Given the description of an element on the screen output the (x, y) to click on. 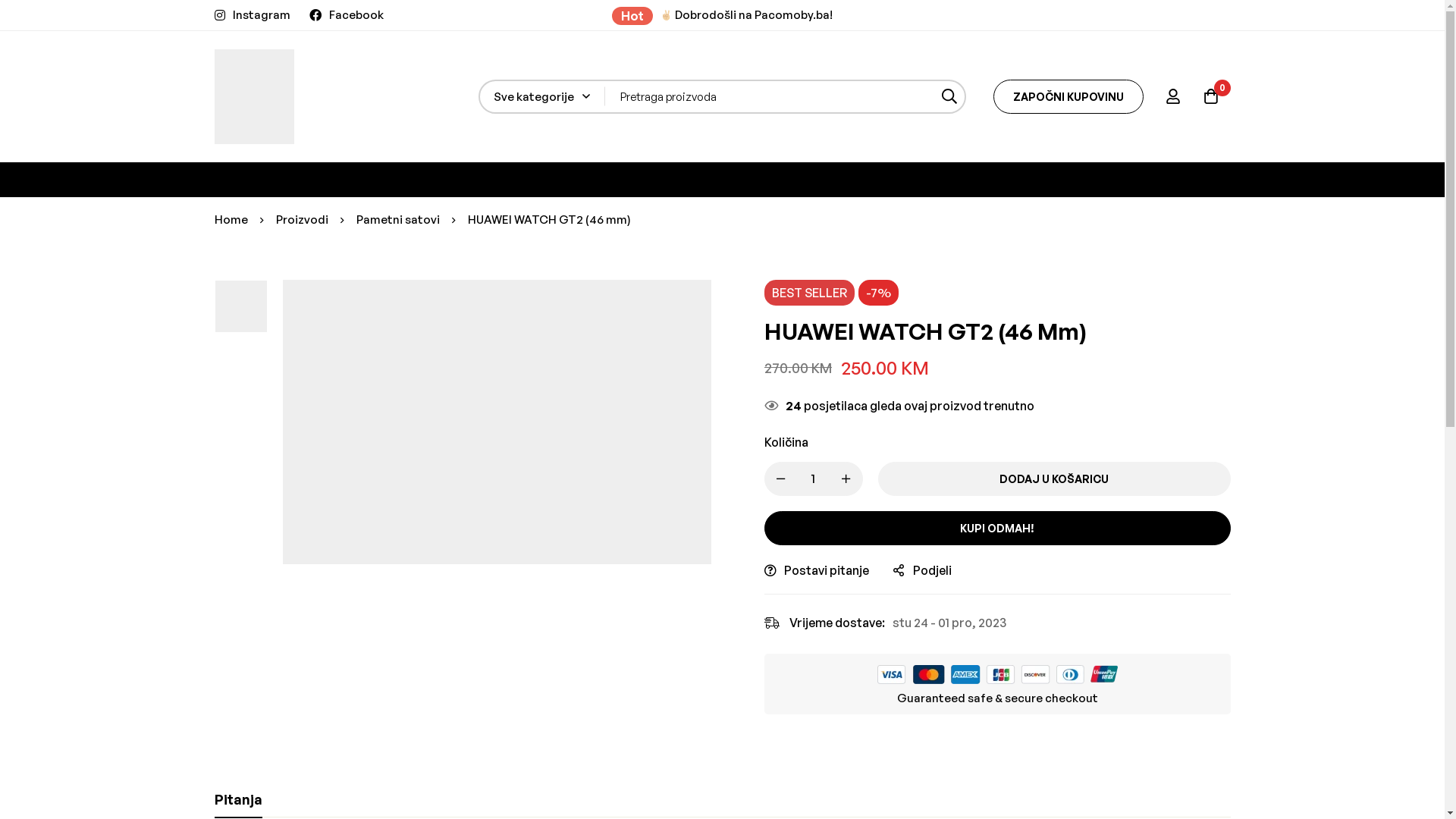
Pametni satovi Element type: text (397, 218)
0 Element type: text (1211, 95)
Proizvodi Element type: text (302, 218)
Podjeli Element type: text (922, 570)
Postavi pitanje Element type: text (816, 570)
KUPI ODMAH! Element type: text (997, 528)
Instagram Element type: text (251, 14)
1 Element type: text (721, 525)
+ Element type: text (845, 478)
- Element type: text (780, 478)
Facebook Element type: text (346, 14)
Home Element type: text (230, 218)
